Given the description of an element on the screen output the (x, y) to click on. 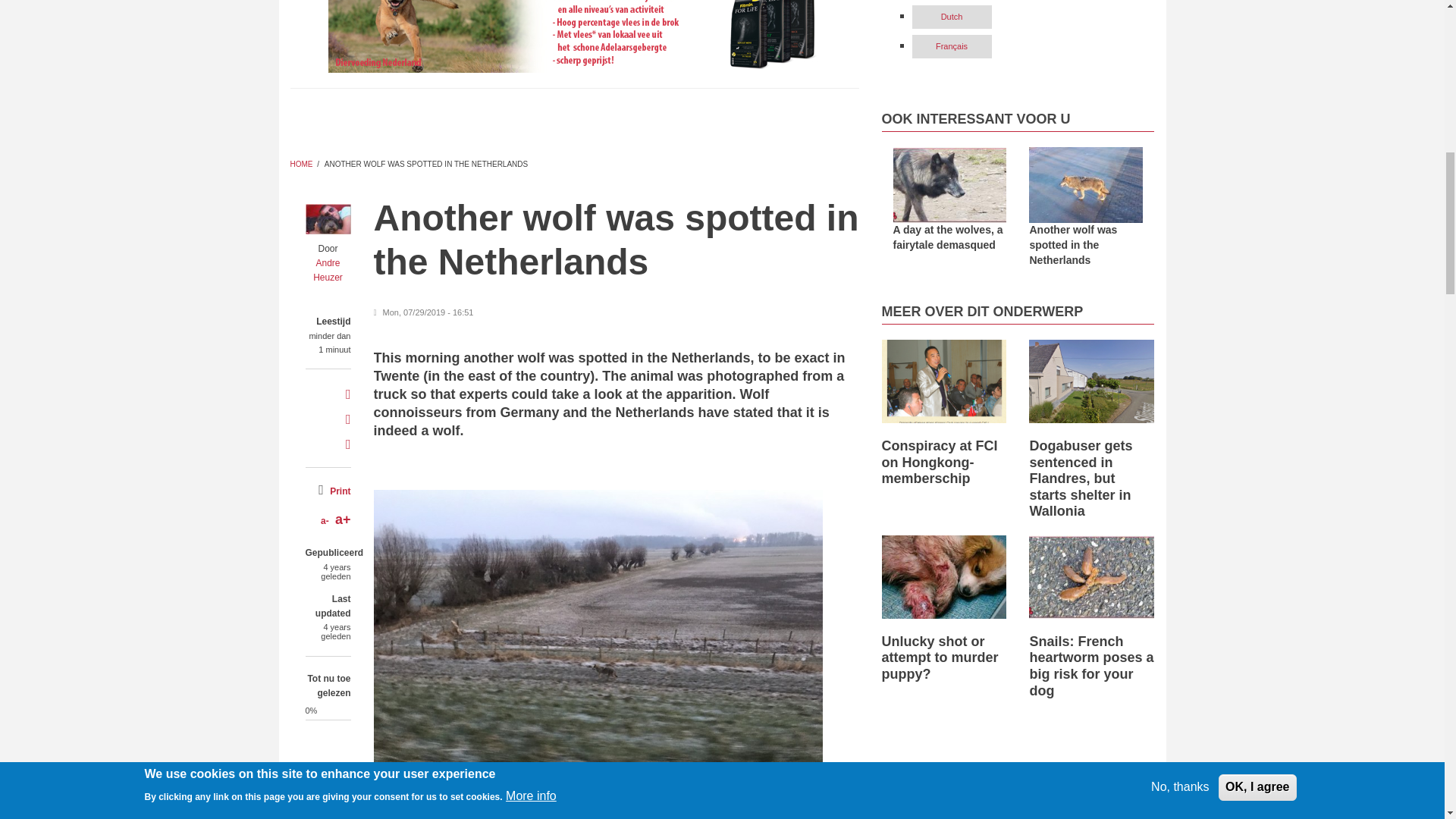
Een dag tussen de wolven, sprookjes ontmaskerd (950, 184)
Samenzwering binnen FCI over lidmaatschap Hongkong (943, 381)
diervoeding (574, 36)
Weer een wolf gespot in Nederland (1085, 184)
View user profile. (327, 269)
